Given the description of an element on the screen output the (x, y) to click on. 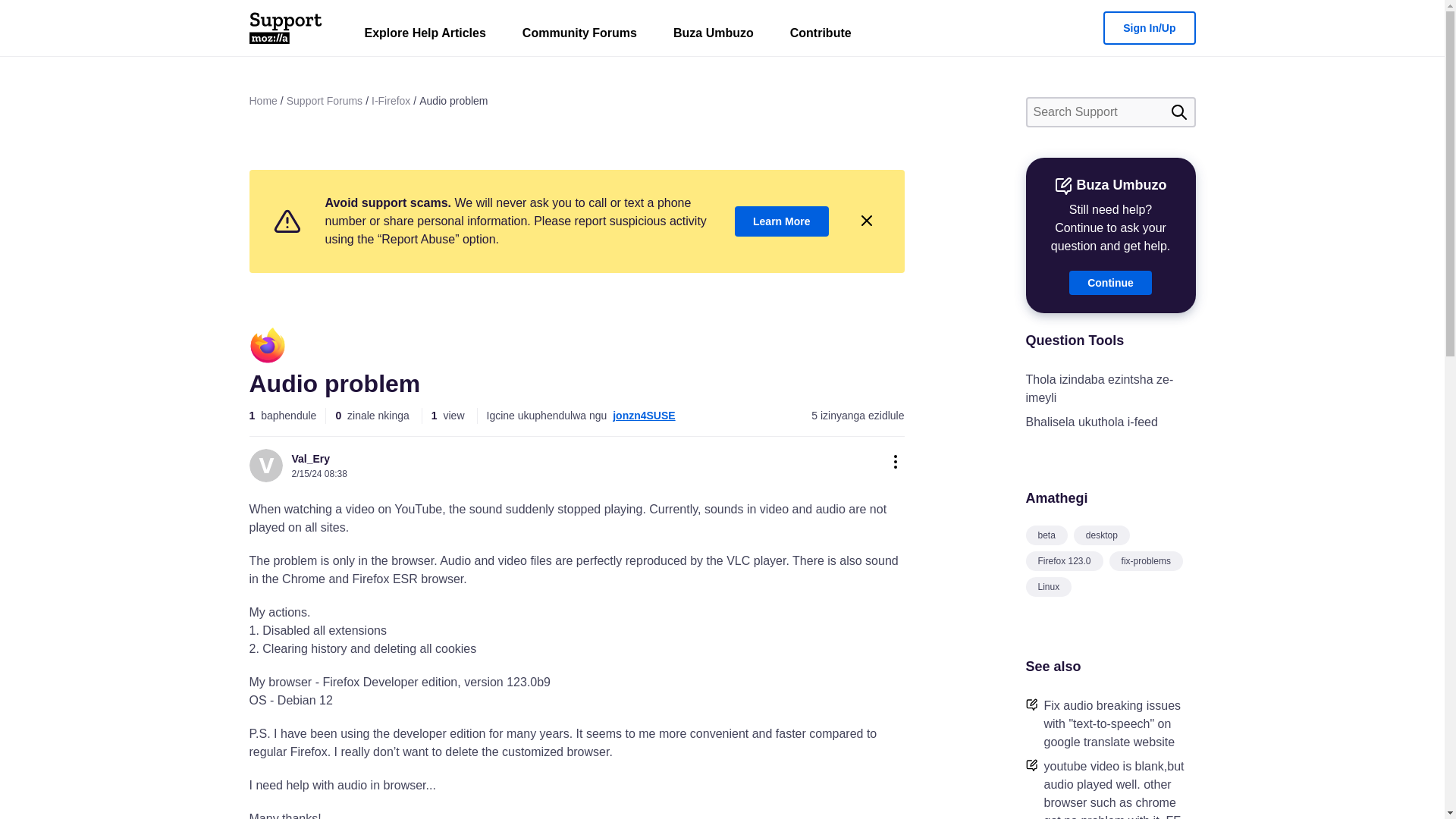
Buza Umbuzo (713, 37)
Community Forums (579, 37)
Explore Help Articles (424, 37)
Cinga (1178, 111)
